Given the description of an element on the screen output the (x, y) to click on. 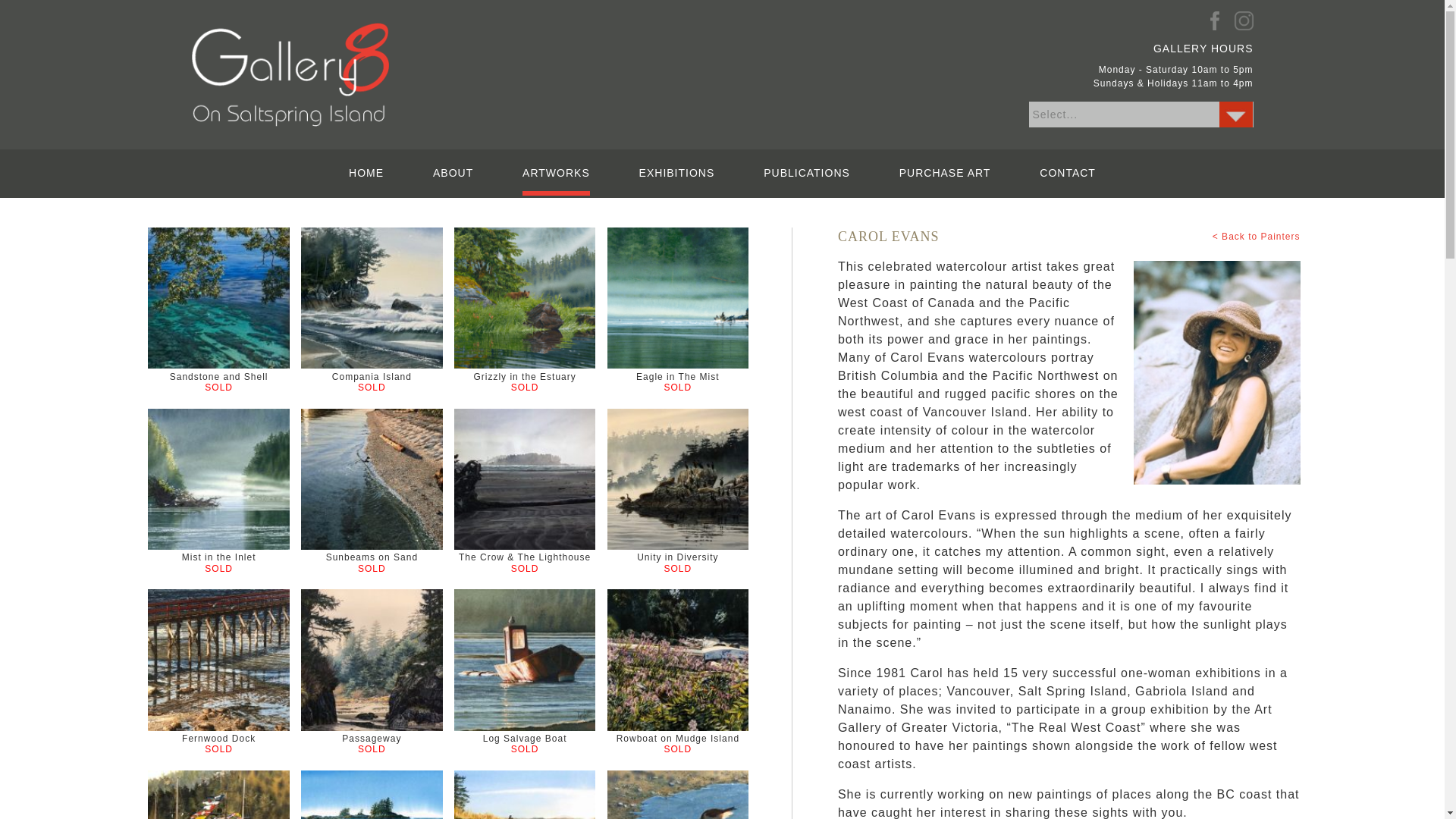
EXHIBITIONS (676, 173)
PUBLICATIONS (806, 173)
HOME (366, 173)
CONTACT (1067, 173)
PURCHASE ART (945, 173)
ARTWORKS (555, 181)
ABOUT (452, 173)
